Given the description of an element on the screen output the (x, y) to click on. 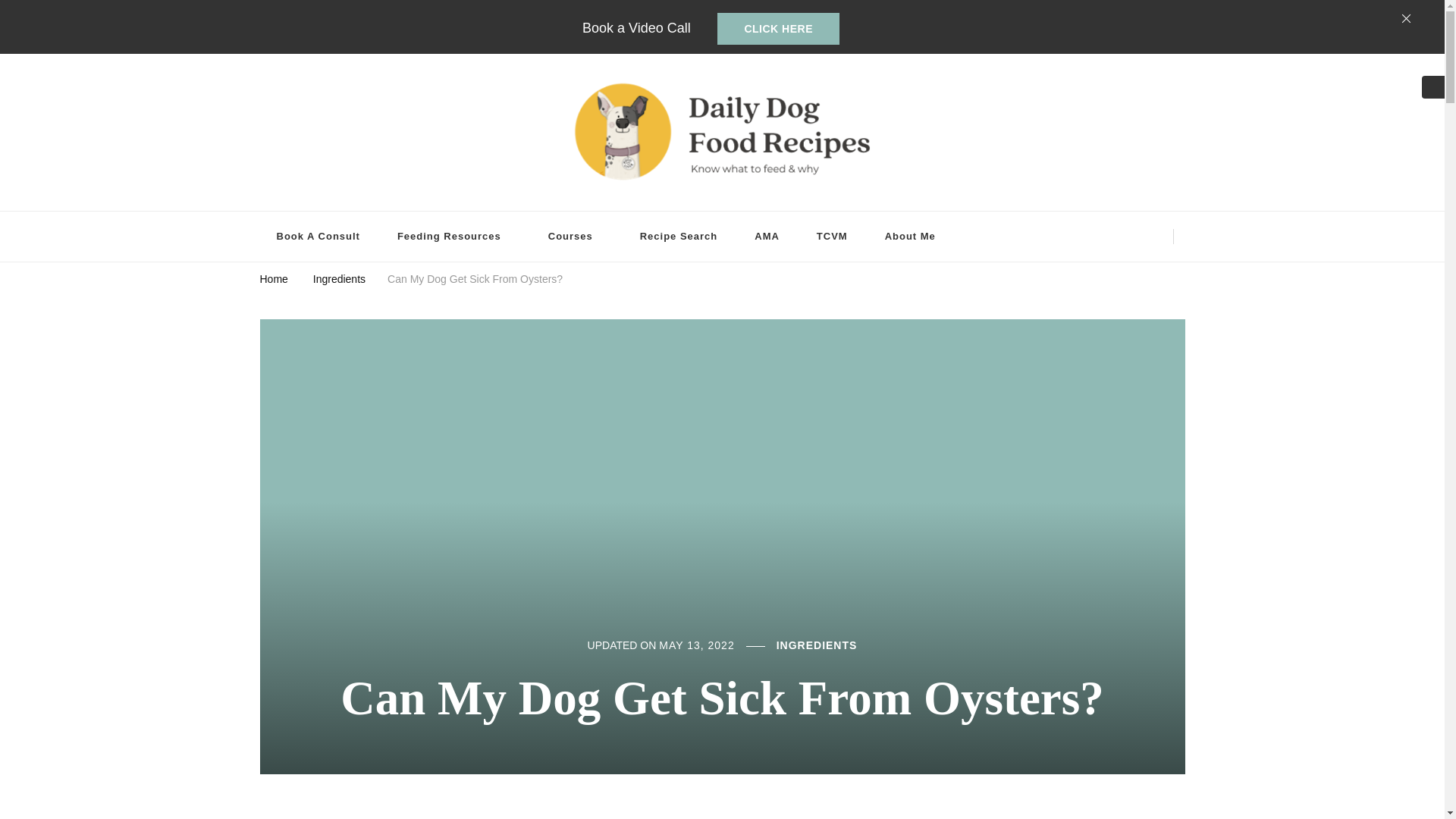
Book A Consult (317, 236)
TCVM (831, 236)
About Me (909, 236)
Feeding Resources (453, 236)
Courses (575, 236)
AMA (767, 236)
CLICK HERE (778, 29)
Recipe Search (679, 236)
